Given the description of an element on the screen output the (x, y) to click on. 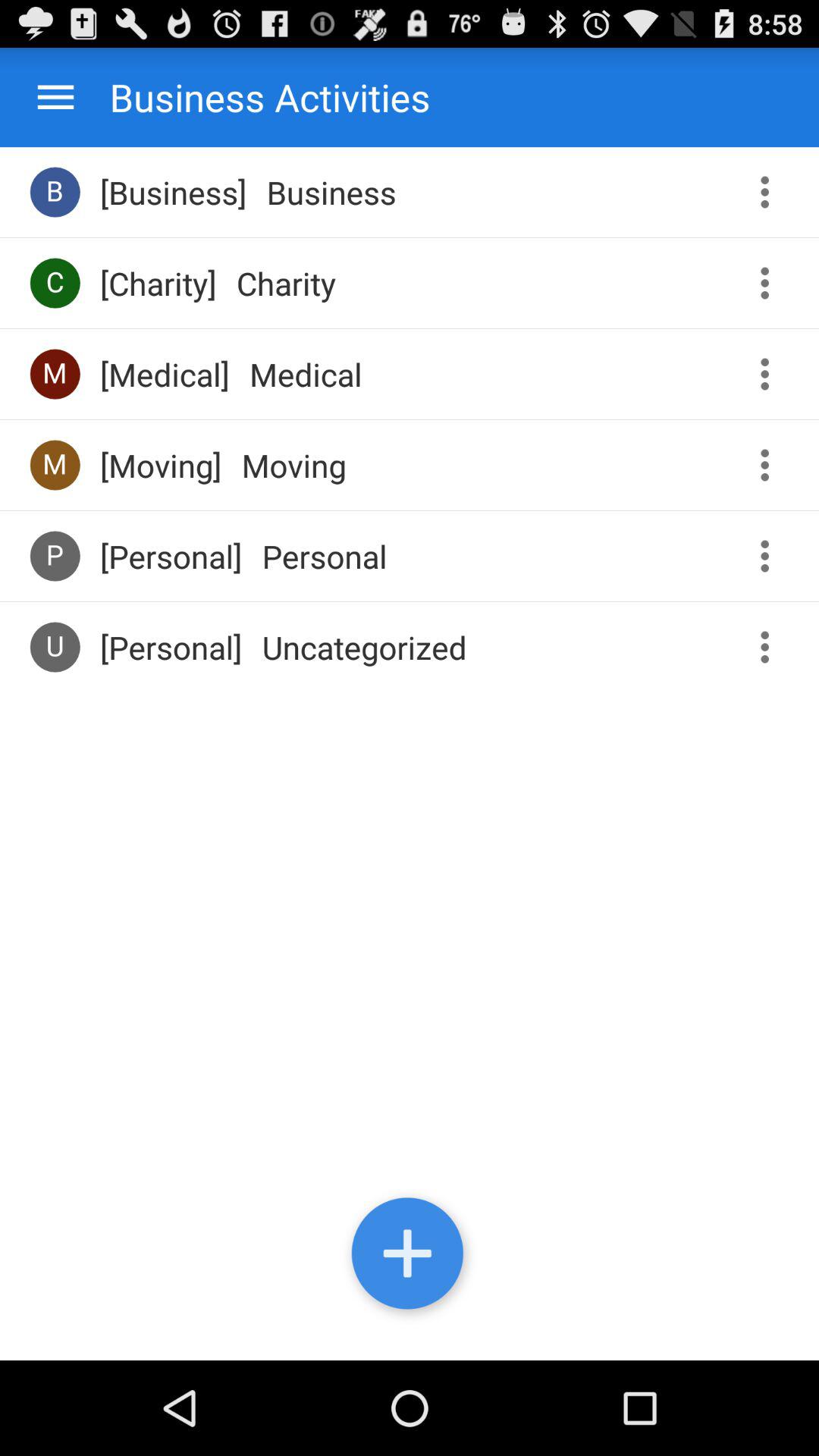
add another business activity (409, 1256)
